Given the description of an element on the screen output the (x, y) to click on. 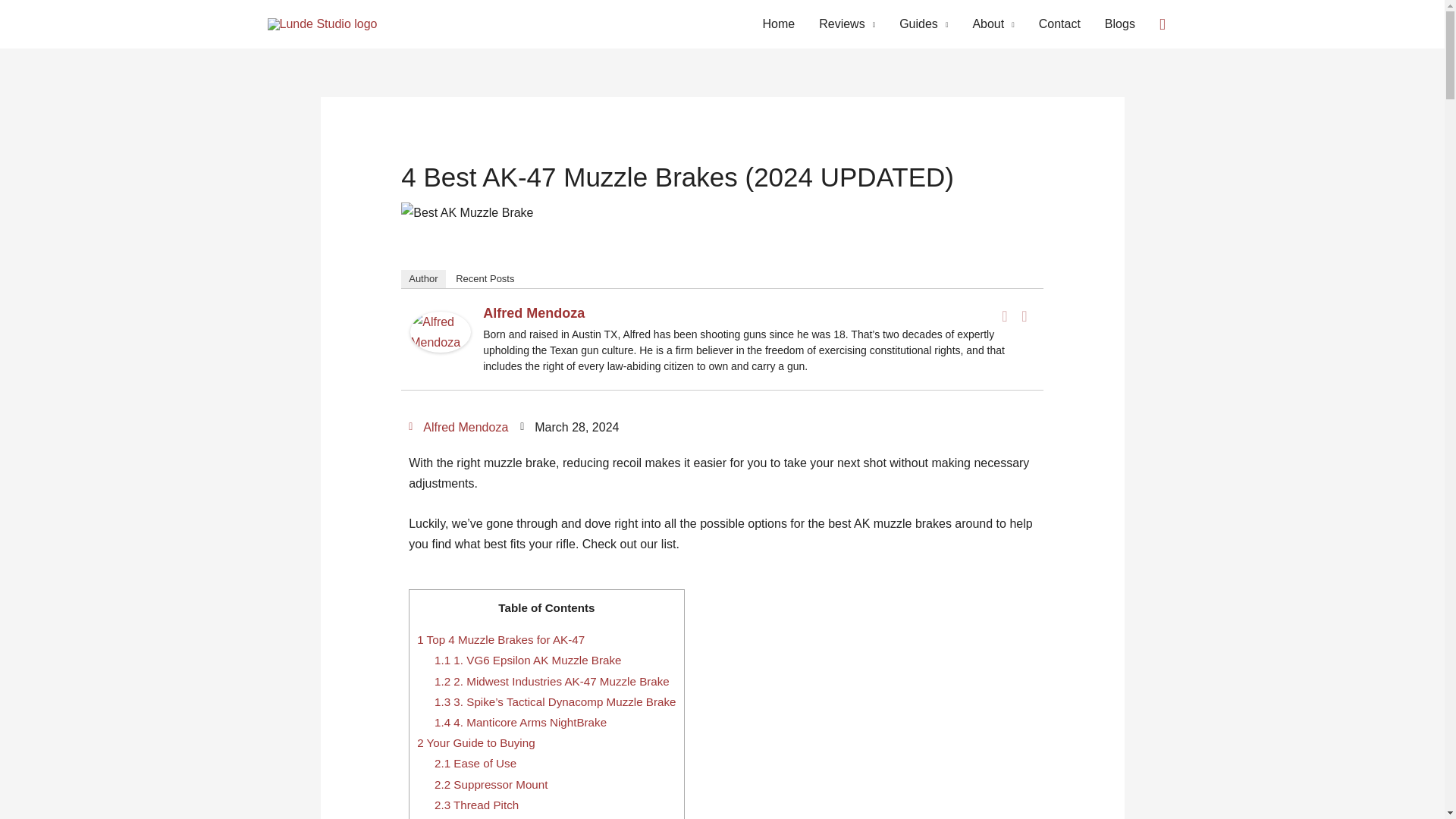
Contact (1059, 24)
Guides (922, 24)
Blogs (1120, 24)
Alfred Mendoza (440, 330)
Twitter (1023, 316)
Home (779, 24)
Facebook (1004, 316)
Recent Posts (484, 279)
About (992, 24)
Reviews (846, 24)
Author (423, 279)
